Given the description of an element on the screen output the (x, y) to click on. 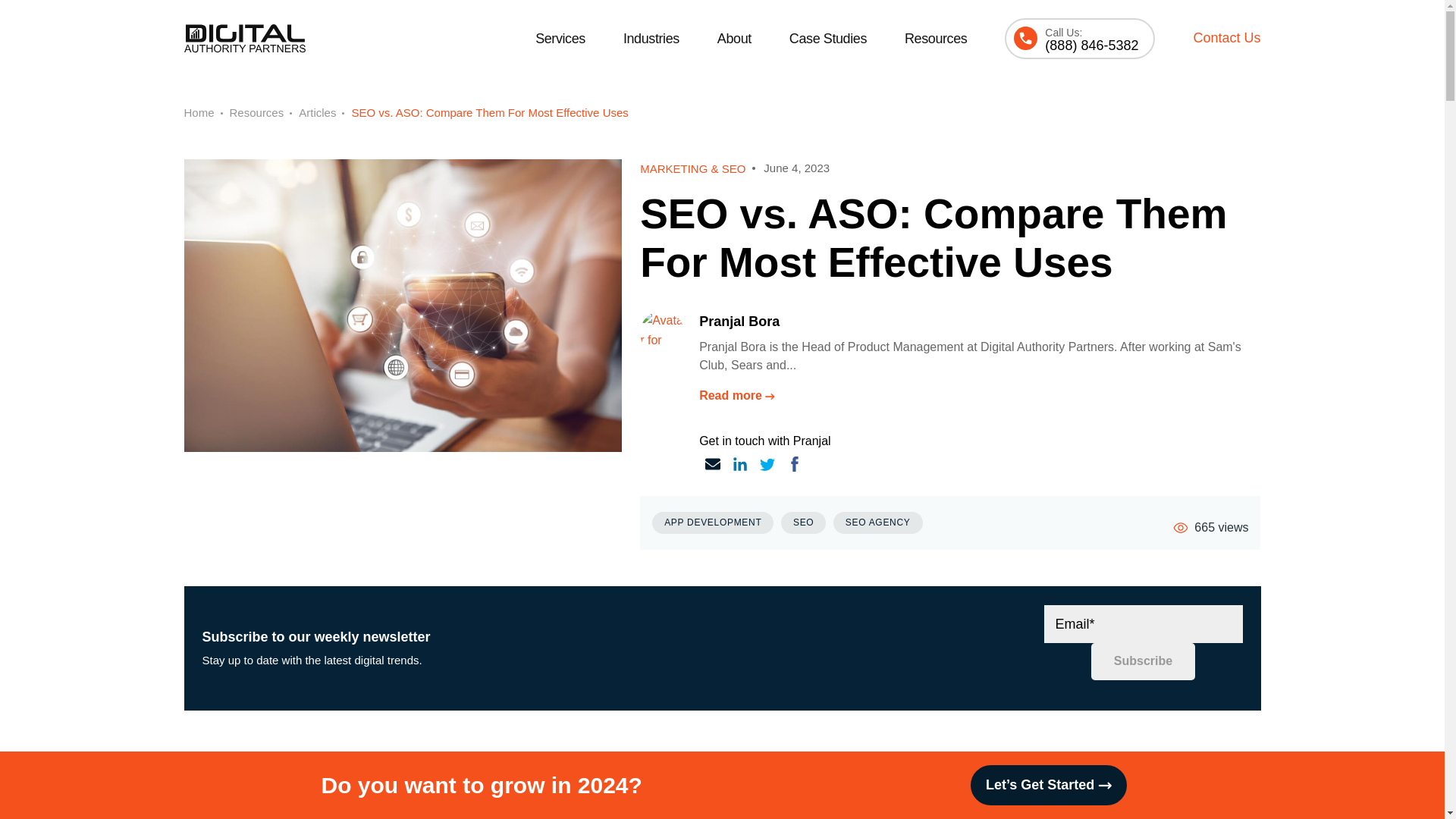
Contact Us (1226, 37)
Resources (935, 38)
Services (560, 38)
Industries (651, 38)
Subscribe (1142, 660)
Digital Authority Partners (243, 38)
Gravatar for Pranjal Bora (662, 332)
About (734, 38)
Case Studies (827, 38)
